Given the description of an element on the screen output the (x, y) to click on. 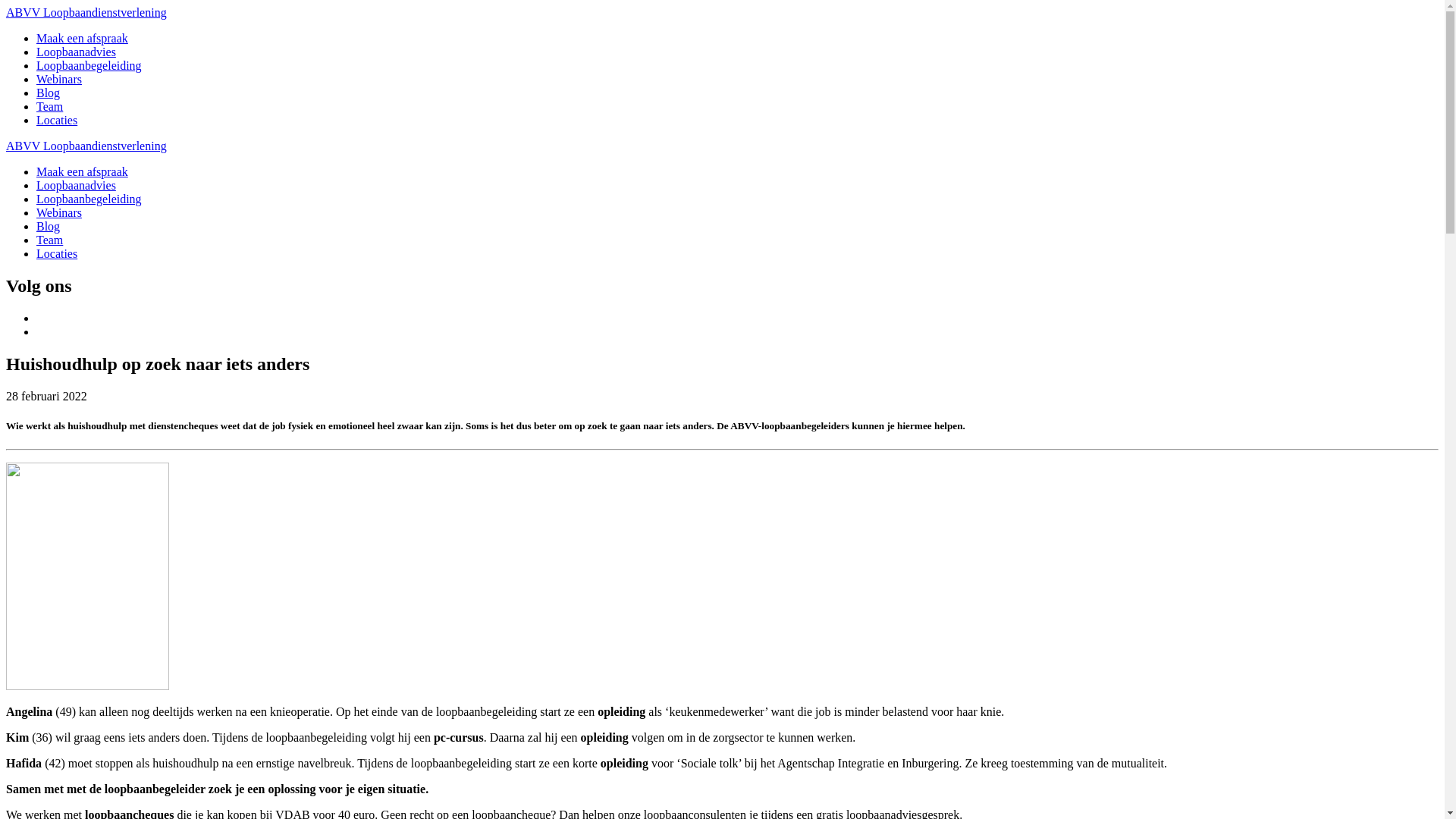
ABVV Loopbaandienstverlening Element type: text (86, 145)
Loopbaanadvies Element type: text (76, 184)
Maak een afspraak Element type: text (82, 171)
Locaties Element type: text (56, 253)
Locaties Element type: text (56, 119)
Team Element type: text (49, 239)
ABVV Loopbaandienstverlening Element type: text (86, 12)
Loopbaanbegeleiding Element type: text (88, 65)
Maak een afspraak Element type: text (82, 37)
Loopbaanbegeleiding Element type: text (88, 198)
Webinars Element type: text (58, 212)
Blog Element type: text (47, 92)
Blog Element type: text (47, 225)
Loopbaanadvies Element type: text (76, 51)
Webinars Element type: text (58, 78)
Team Element type: text (49, 106)
